Given the description of an element on the screen output the (x, y) to click on. 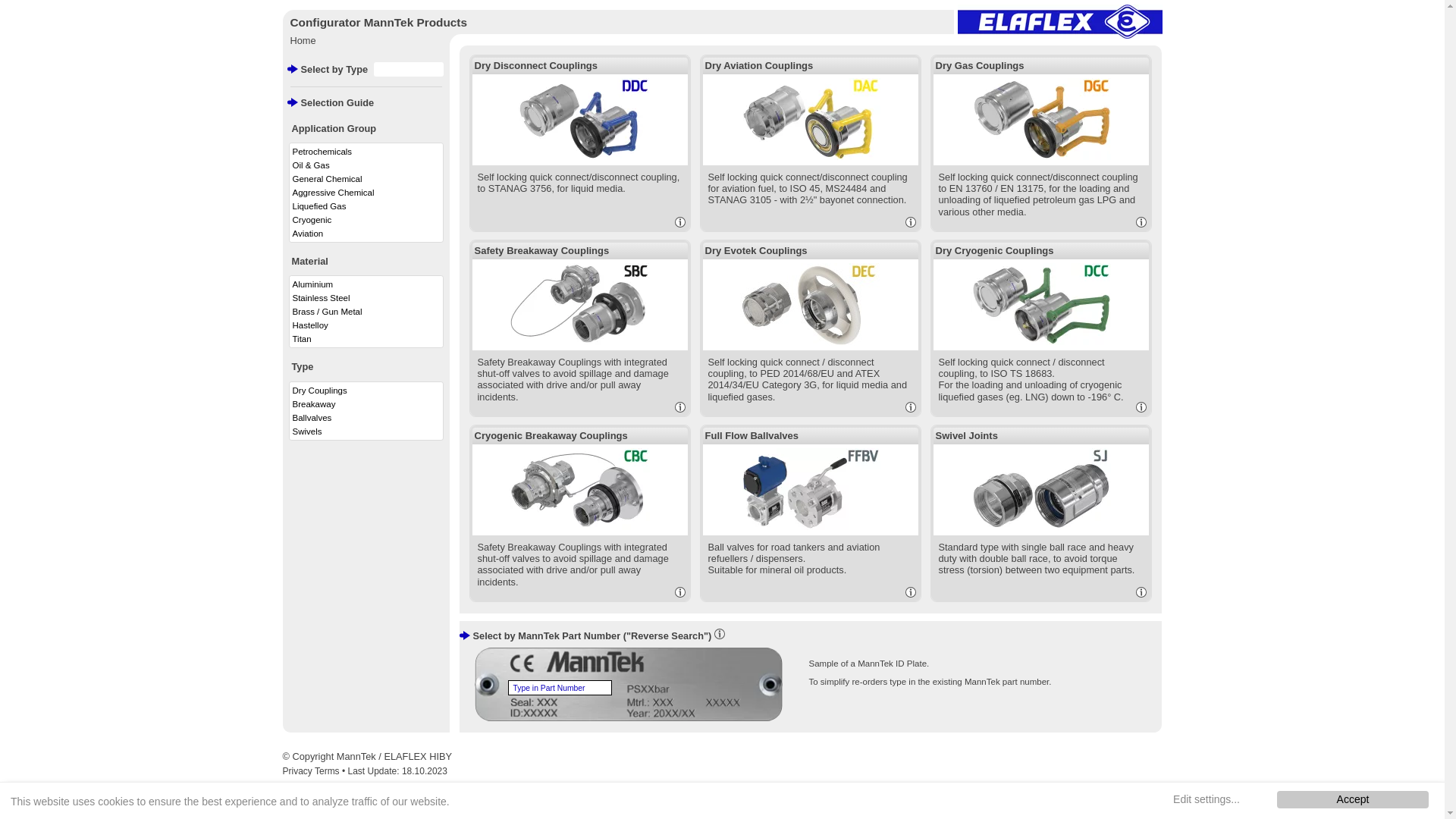
Titan Element type: text (365, 338)
Ballvalves Element type: text (365, 417)
Breakaway Element type: text (365, 403)
General Chemical Element type: text (365, 178)
Edit settings... Element type: text (1206, 799)
Brass / Gun Metal Element type: text (365, 311)
Aviation Element type: text (365, 233)
Liquefied Gas Element type: text (365, 205)
Accept Element type: text (1352, 799)
Swivels Element type: text (365, 431)
Hastelloy Element type: text (365, 325)
Aggressive Chemical Element type: text (365, 192)
Stainless Steel Element type: text (365, 297)
Home Element type: text (302, 40)
Oil & Gas Element type: text (365, 165)
Aluminium Element type: text (365, 284)
Privacy Terms Element type: text (311, 770)
Dry Couplings Element type: text (365, 390)
Cryogenic Element type: text (365, 219)
Petrochemicals Element type: text (365, 151)
